Given the description of an element on the screen output the (x, y) to click on. 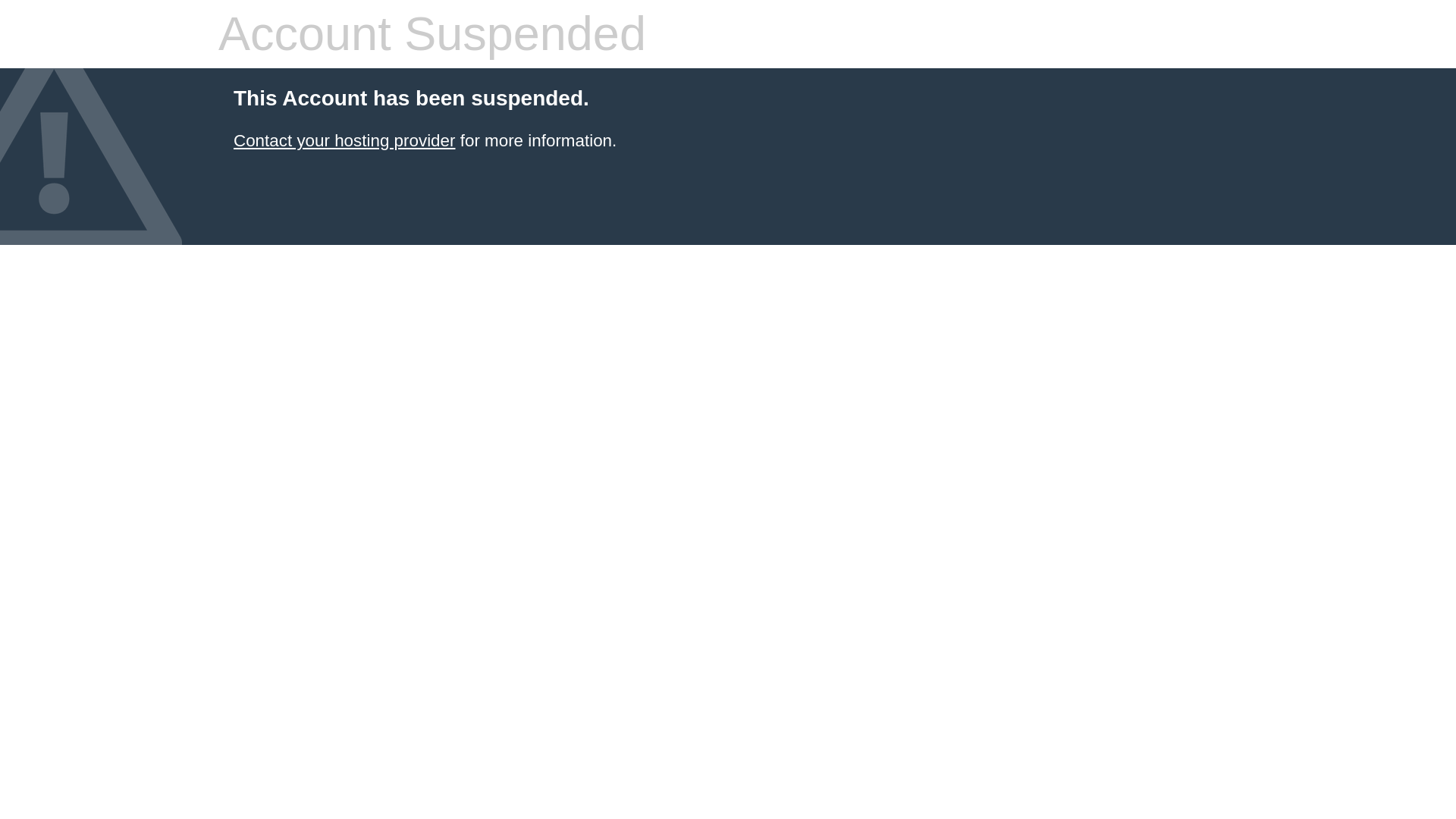
Contact your hosting provider (343, 140)
